Given the description of an element on the screen output the (x, y) to click on. 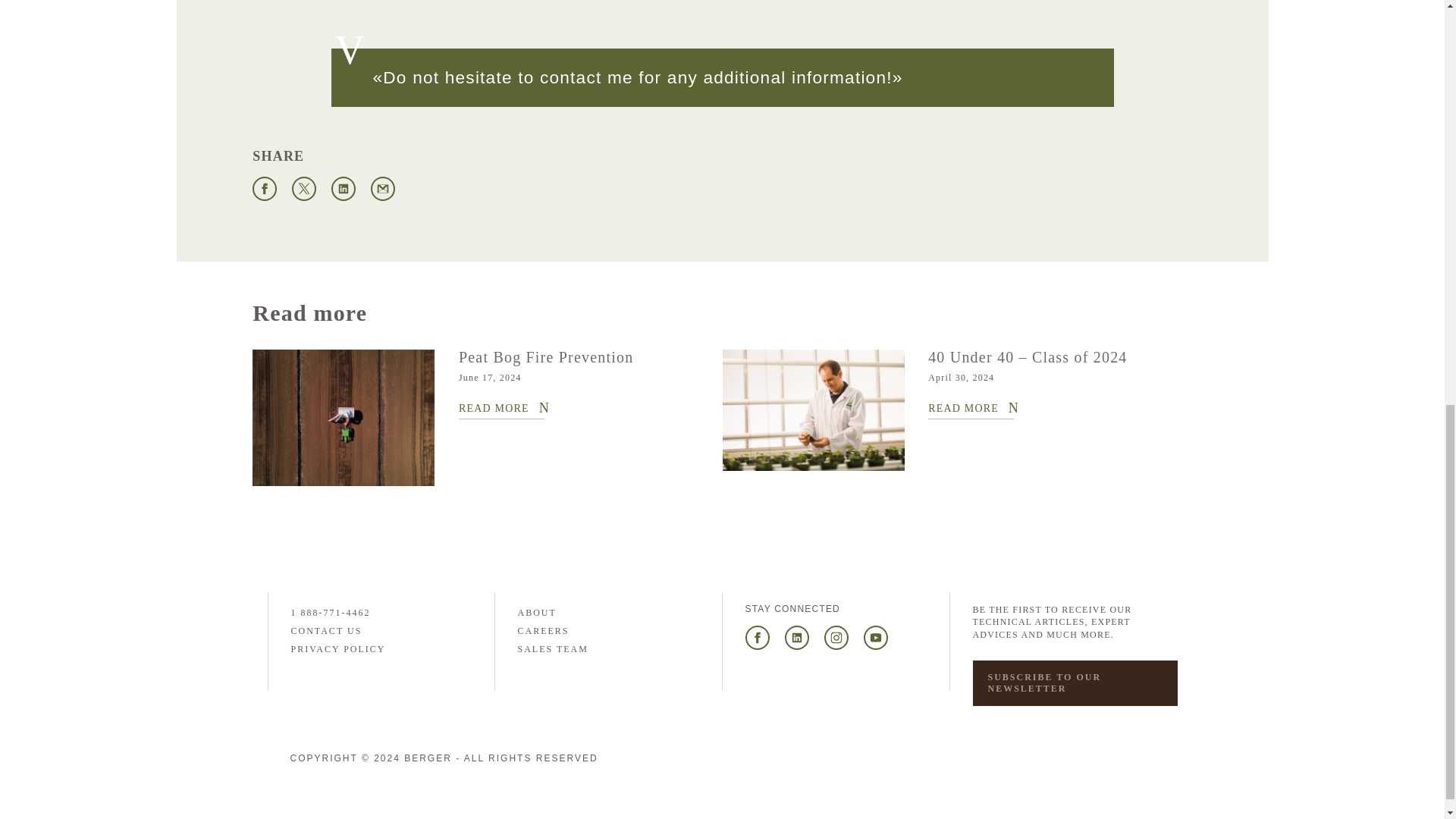
Share on Email (382, 188)
Share on Facebook (263, 188)
Share on Twitter (303, 188)
Share on Linkedin (343, 188)
